Given the description of an element on the screen output the (x, y) to click on. 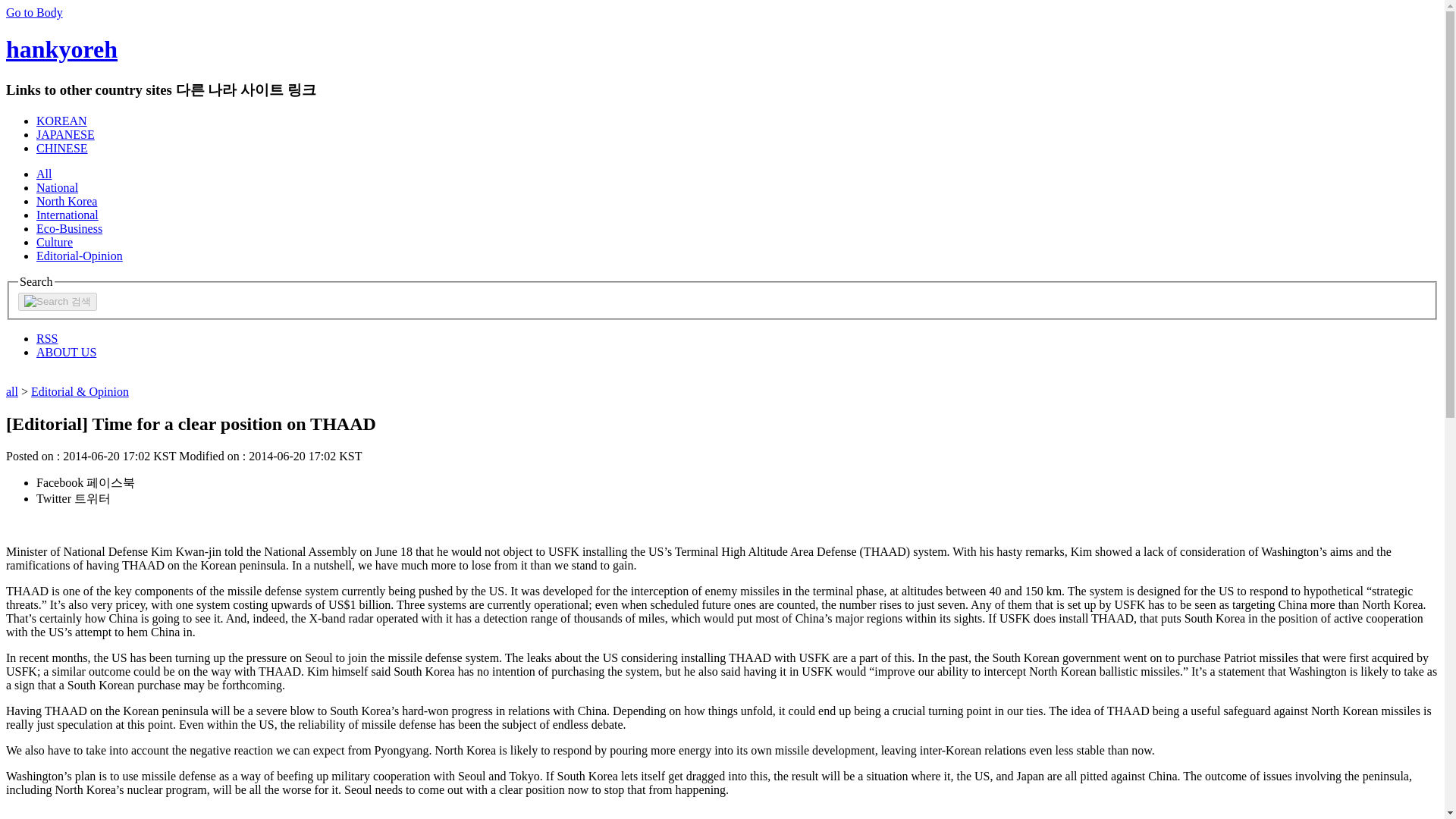
Eco-Business (68, 228)
North Korea (66, 201)
RSS (47, 338)
Go to Body (33, 11)
all (11, 391)
National (57, 187)
International (67, 214)
JAPANESE (65, 133)
hankyoreh (61, 49)
CHINESE (61, 147)
KOREAN (61, 120)
ABOUT US (66, 351)
All (43, 173)
Culture (54, 241)
Editorial-Opinion (79, 255)
